Given the description of an element on the screen output the (x, y) to click on. 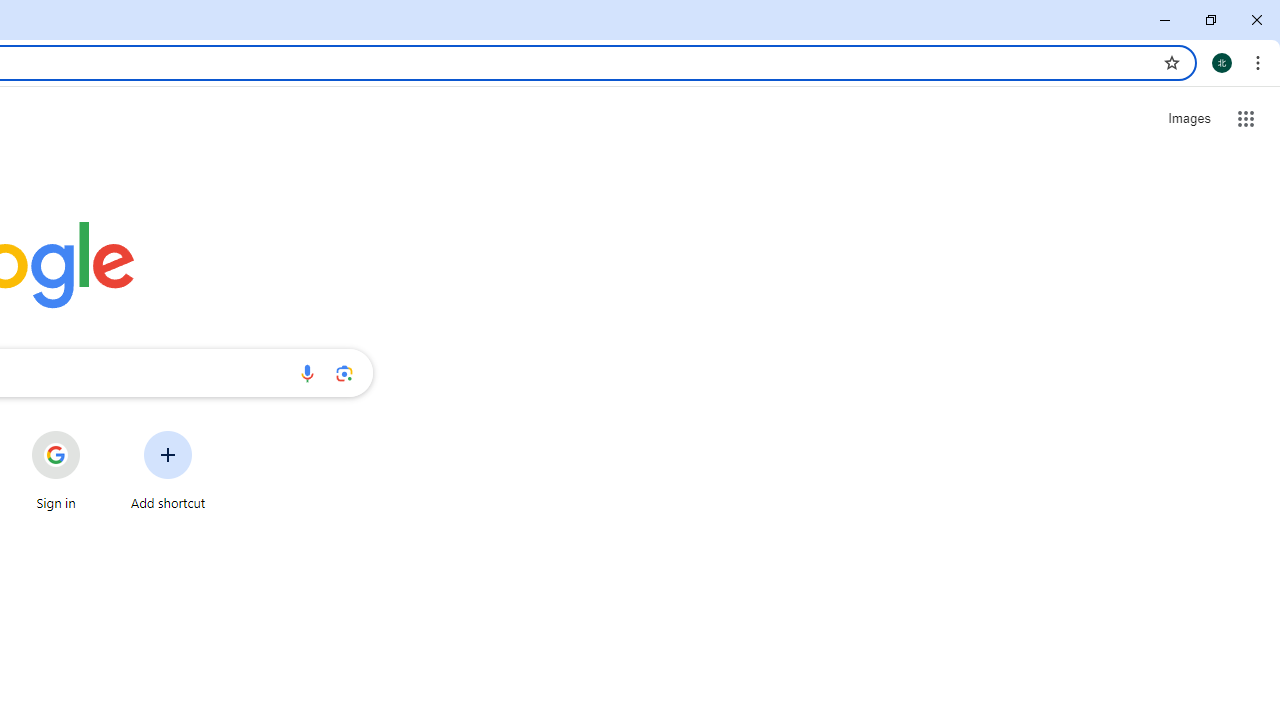
Search by image (344, 372)
Add shortcut (168, 470)
Search by voice (307, 372)
More actions for Sign in shortcut (95, 433)
Search for Images  (1188, 119)
